Given the description of an element on the screen output the (x, y) to click on. 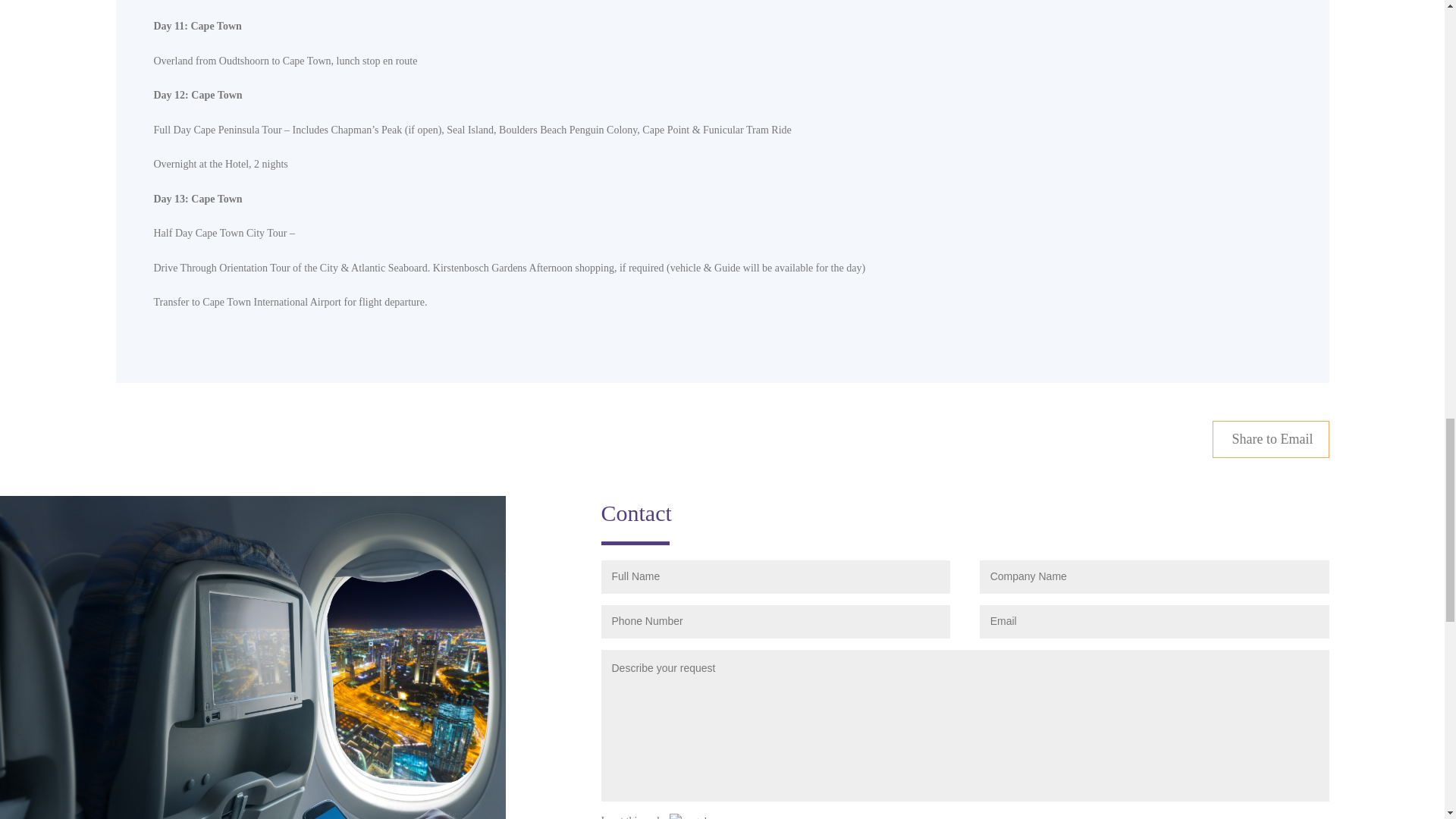
Share to Email (1270, 438)
